Given the description of an element on the screen output the (x, y) to click on. 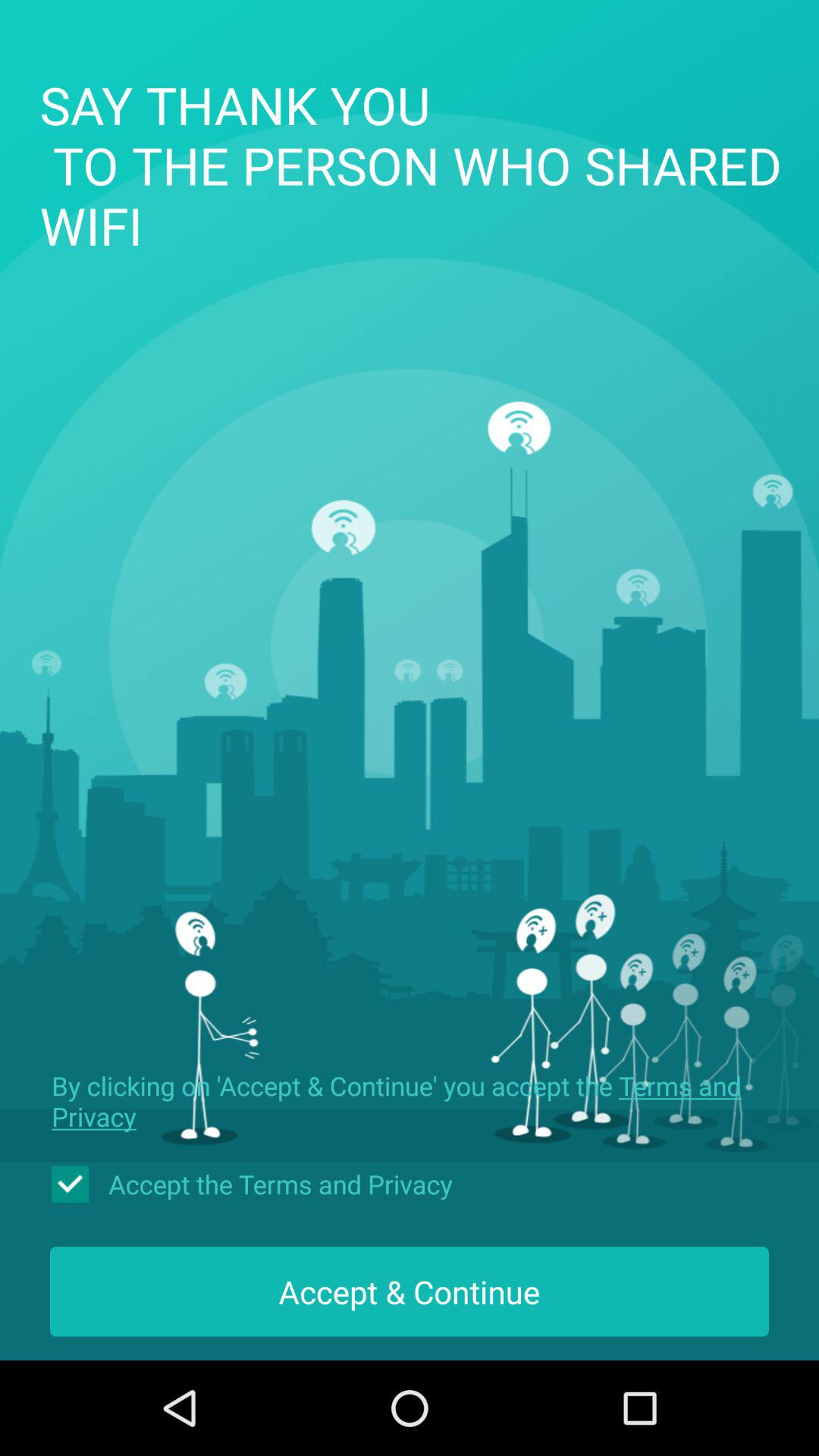
launch the item above accept the terms (409, 1101)
